Given the description of an element on the screen output the (x, y) to click on. 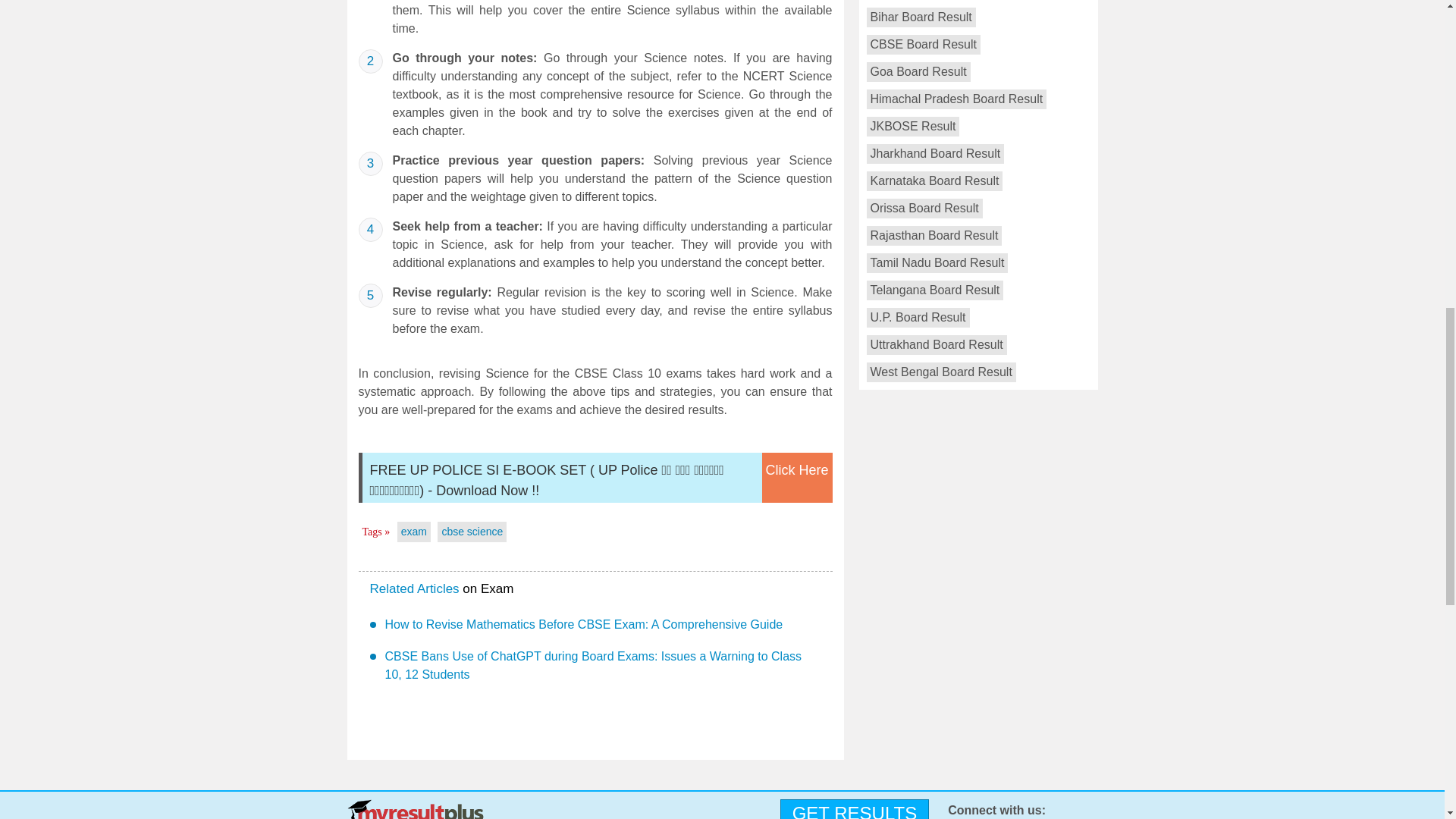
cbse science (471, 531)
exam (413, 531)
